Given the description of an element on the screen output the (x, y) to click on. 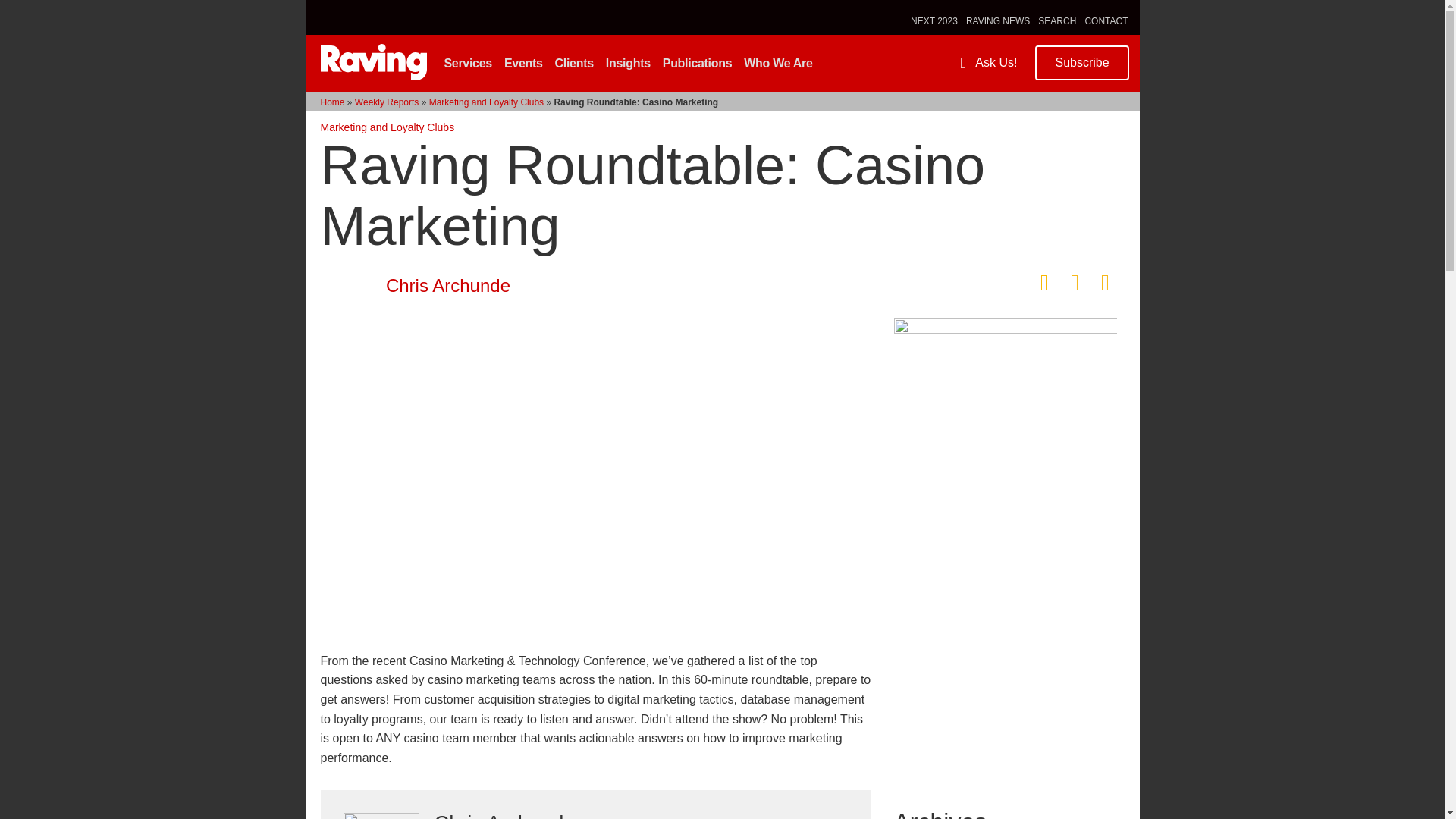
Publications (699, 62)
SEARCH (1056, 20)
Subscribe (1081, 62)
Home (331, 102)
Events (525, 62)
Ask Us! (988, 62)
Insights (630, 62)
Services (469, 62)
NEXT 2023 (933, 20)
CONTACT (1105, 20)
